Given the description of an element on the screen output the (x, y) to click on. 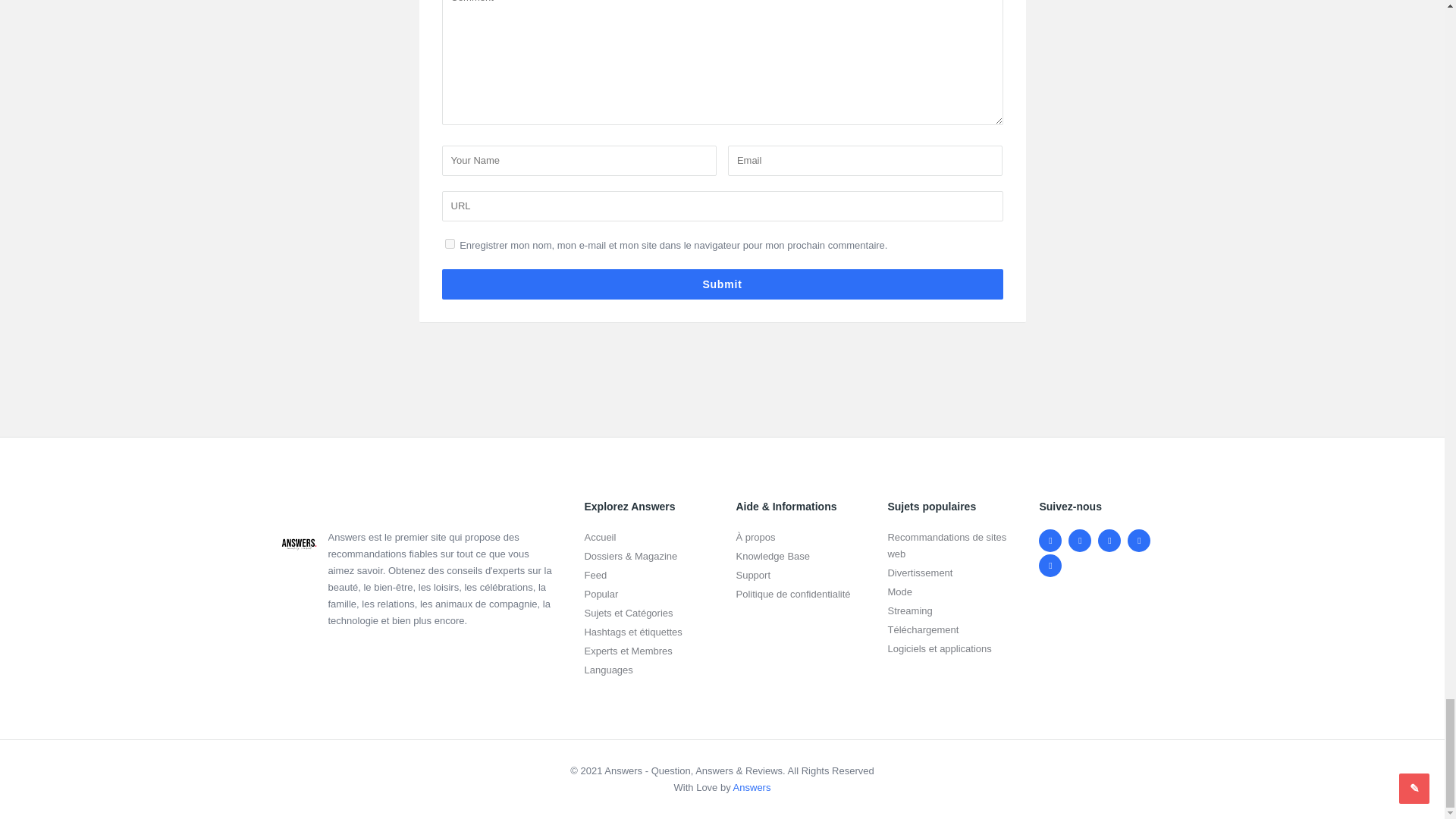
Facebook (1050, 540)
Submit (722, 283)
Twitter (1079, 540)
Dribbble (1138, 540)
yes (449, 243)
Feed (1050, 564)
Linkedin (1109, 540)
